Given the description of an element on the screen output the (x, y) to click on. 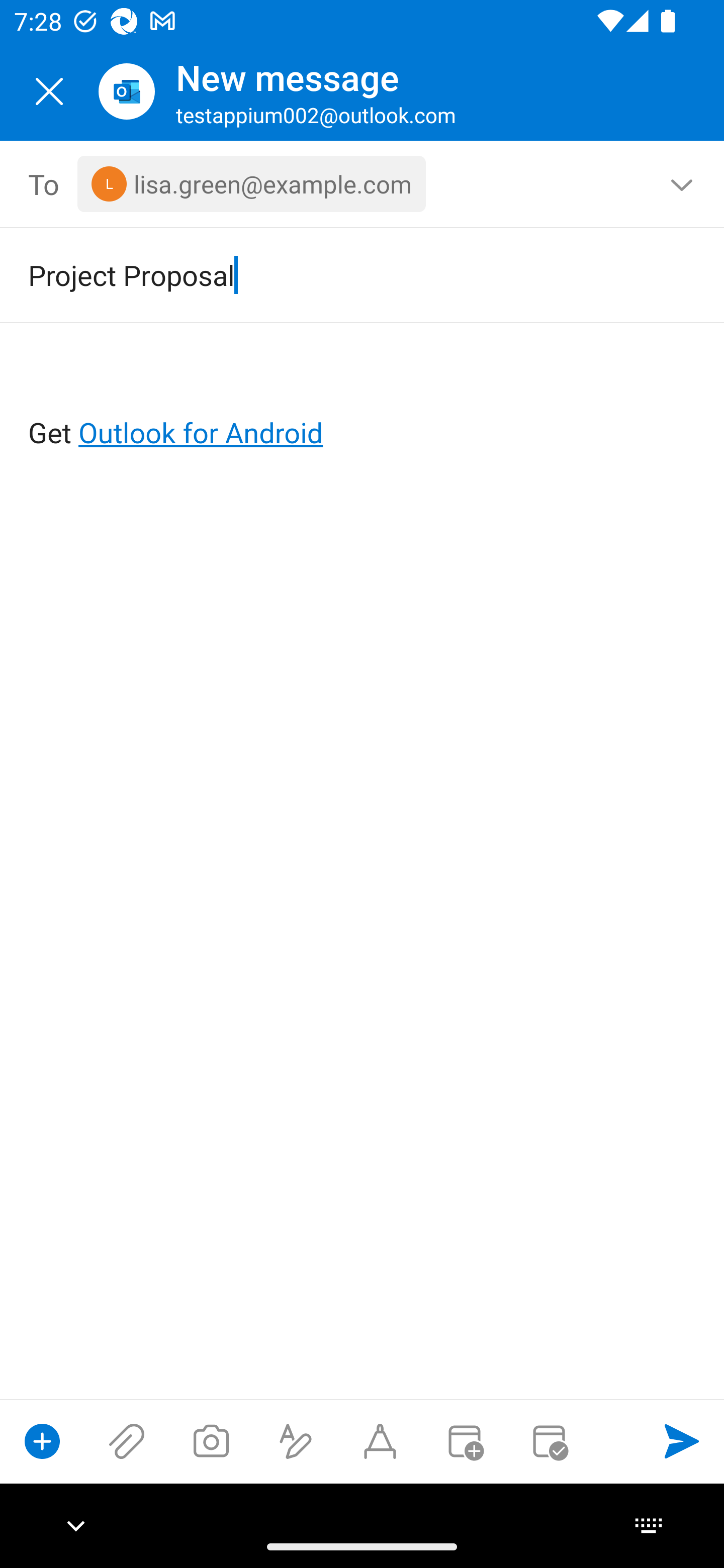
Close (49, 91)
To, 1 recipient <lisa.green@example.com> (362, 184)
Project Proposal (333, 274)


Get Outlook for Android (363, 400)
Show compose options (42, 1440)
Attach files (126, 1440)
Take a photo (210, 1440)
Show formatting options (295, 1440)
Start Ink compose (380, 1440)
Convert to event (464, 1440)
Send availability (548, 1440)
Send (681, 1440)
